Given the description of an element on the screen output the (x, y) to click on. 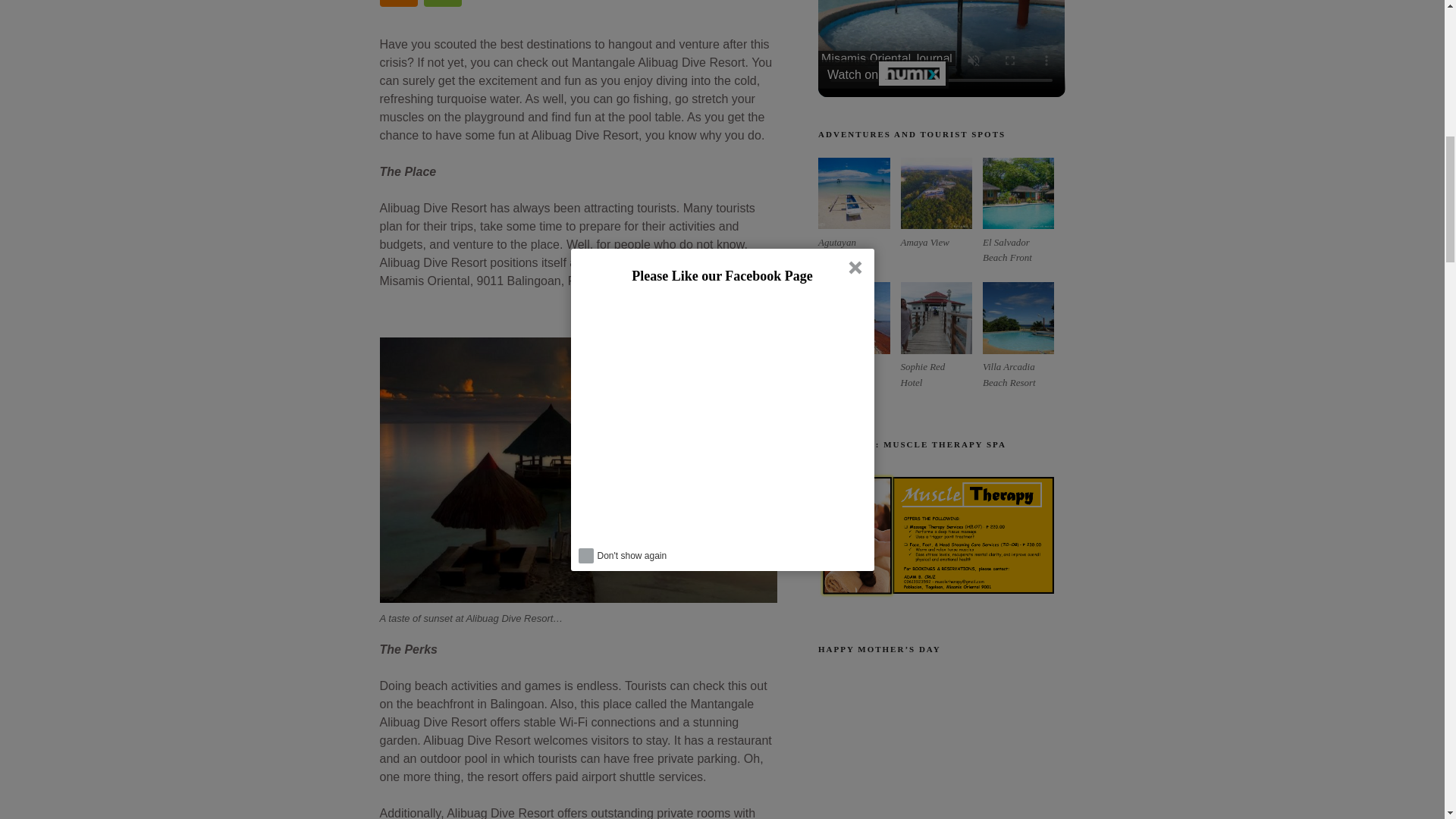
Amaya View (936, 193)
Villa Arcadia Beach Resort (1018, 316)
Featured Business - Muscle Therapy (941, 536)
share (1034, 1)
Agutayan Island (853, 193)
Red Sand Beach (853, 316)
Sophie Red Hotel (936, 316)
El Salvador Beach Front (1018, 193)
